Given the description of an element on the screen output the (x, y) to click on. 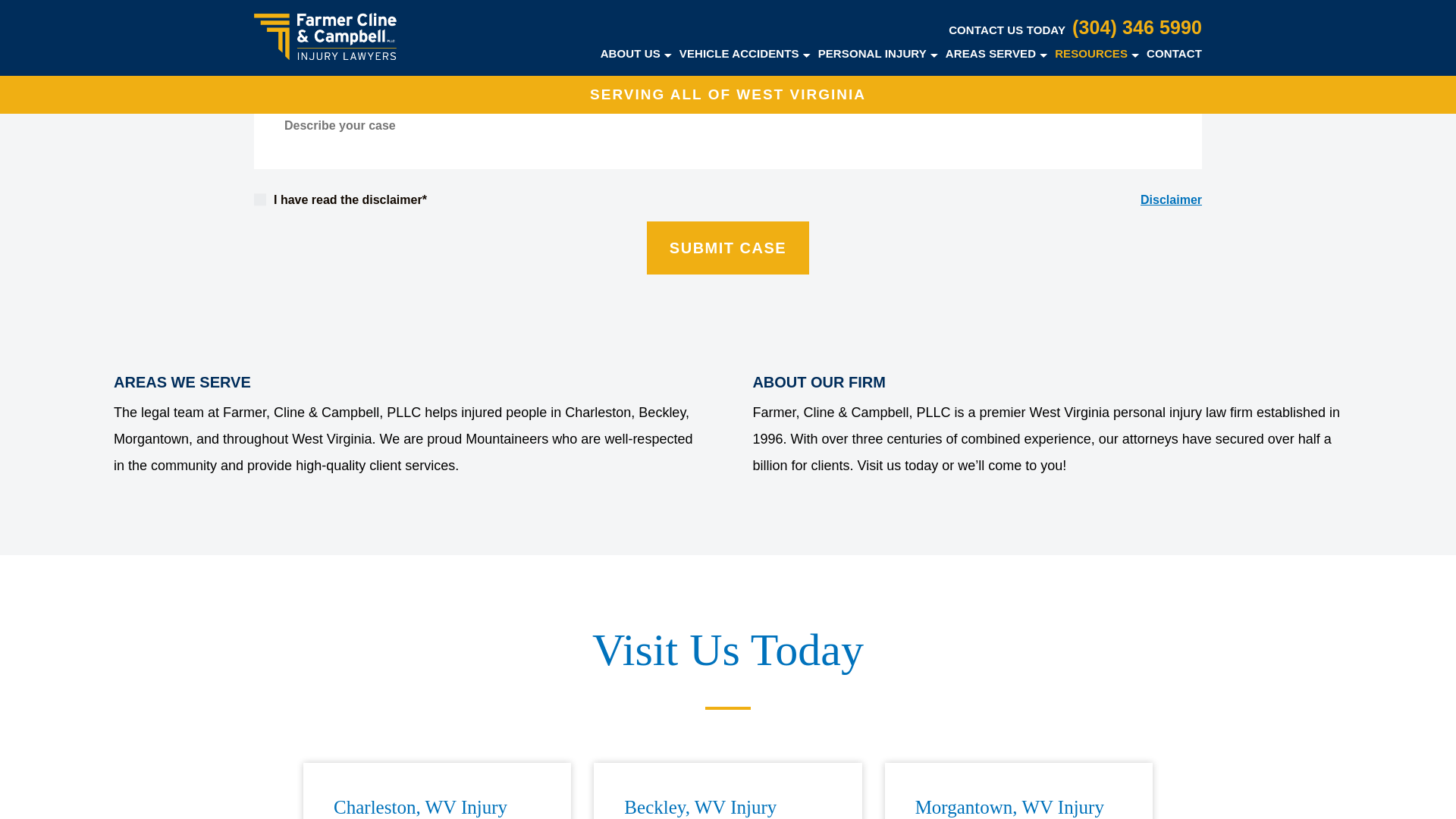
1 (259, 199)
Submit Case (727, 247)
